Given the description of an element on the screen output the (x, y) to click on. 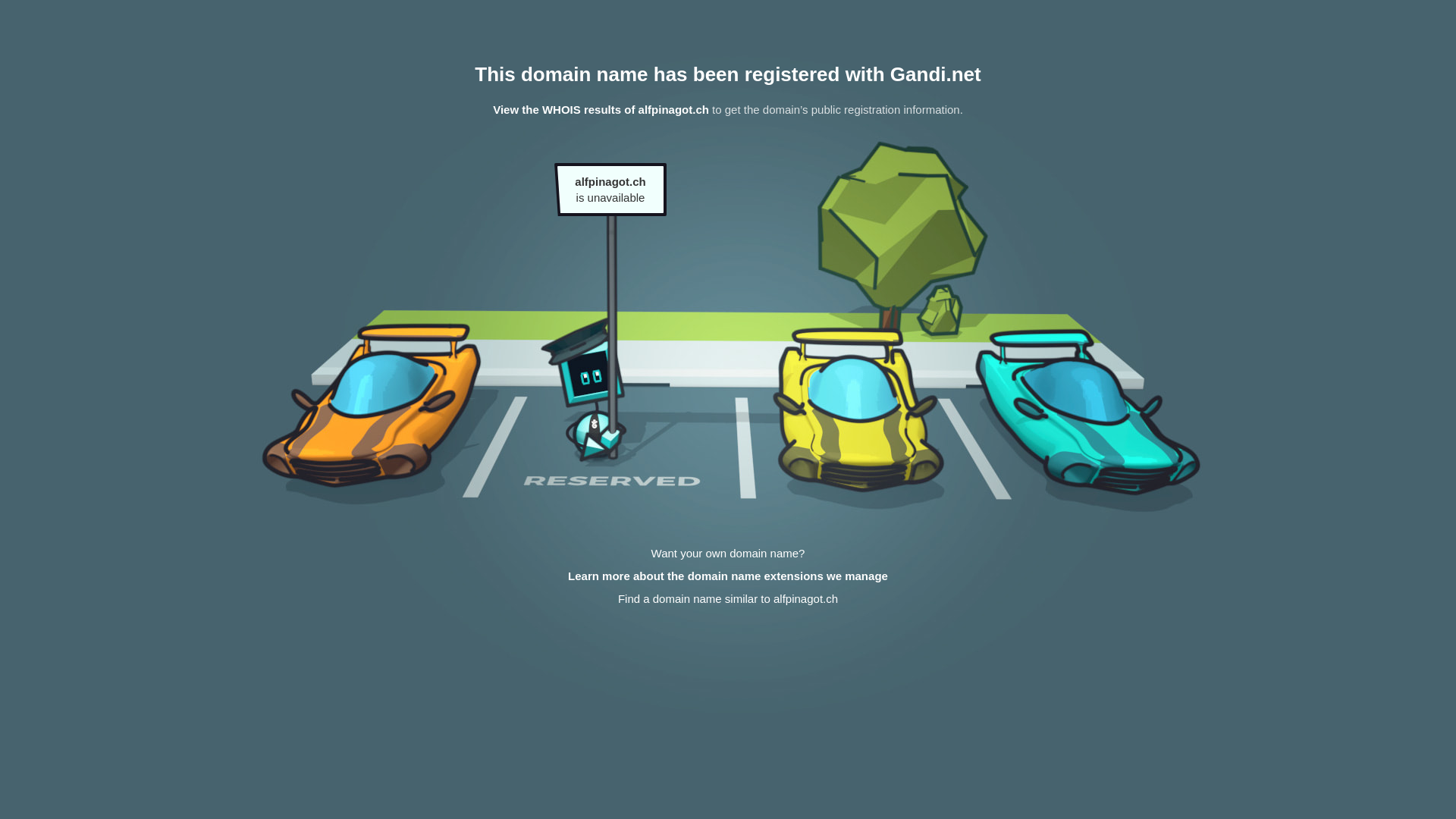
Find a domain name similar to alfpinagot.ch Element type: text (727, 598)
View the WHOIS results of alfpinagot.ch Element type: text (600, 109)
Learn more about the domain name extensions we manage Element type: text (727, 575)
